Given the description of an element on the screen output the (x, y) to click on. 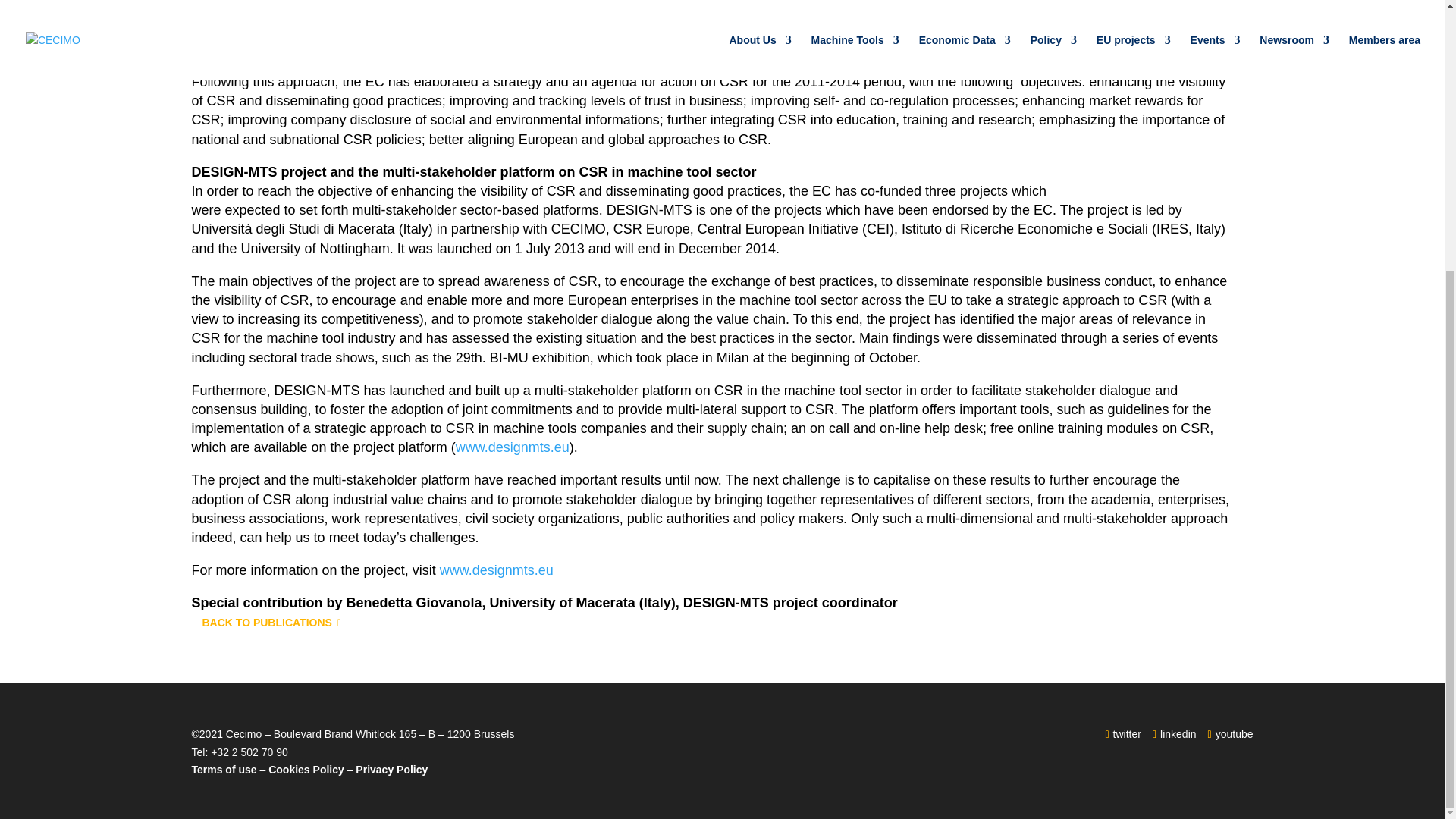
Cookies Policy (305, 769)
BACK TO PUBLICATIONS (271, 622)
www.designmts.eu (496, 570)
Terms of use (223, 769)
www.designmts.eu (512, 447)
